Given the description of an element on the screen output the (x, y) to click on. 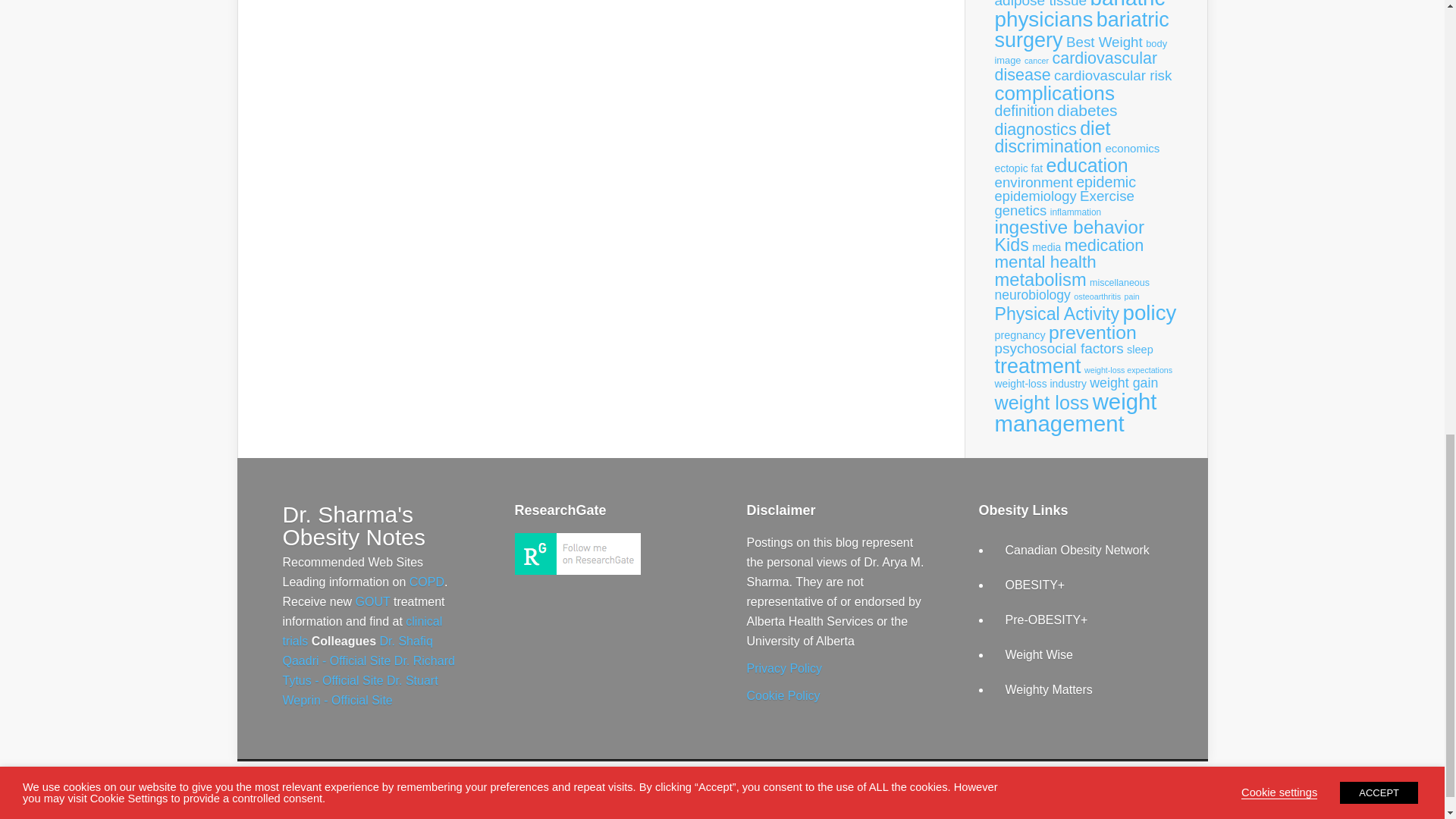
Weight Wise (1040, 654)
ectopic fat (1018, 168)
cardiovascular disease (1075, 66)
diabetes (1086, 109)
body image (1080, 51)
Gout Institute (372, 601)
education (1087, 165)
environment (1033, 181)
Arya Mitra Sharma (576, 570)
COPD (426, 581)
